Given the description of an element on the screen output the (x, y) to click on. 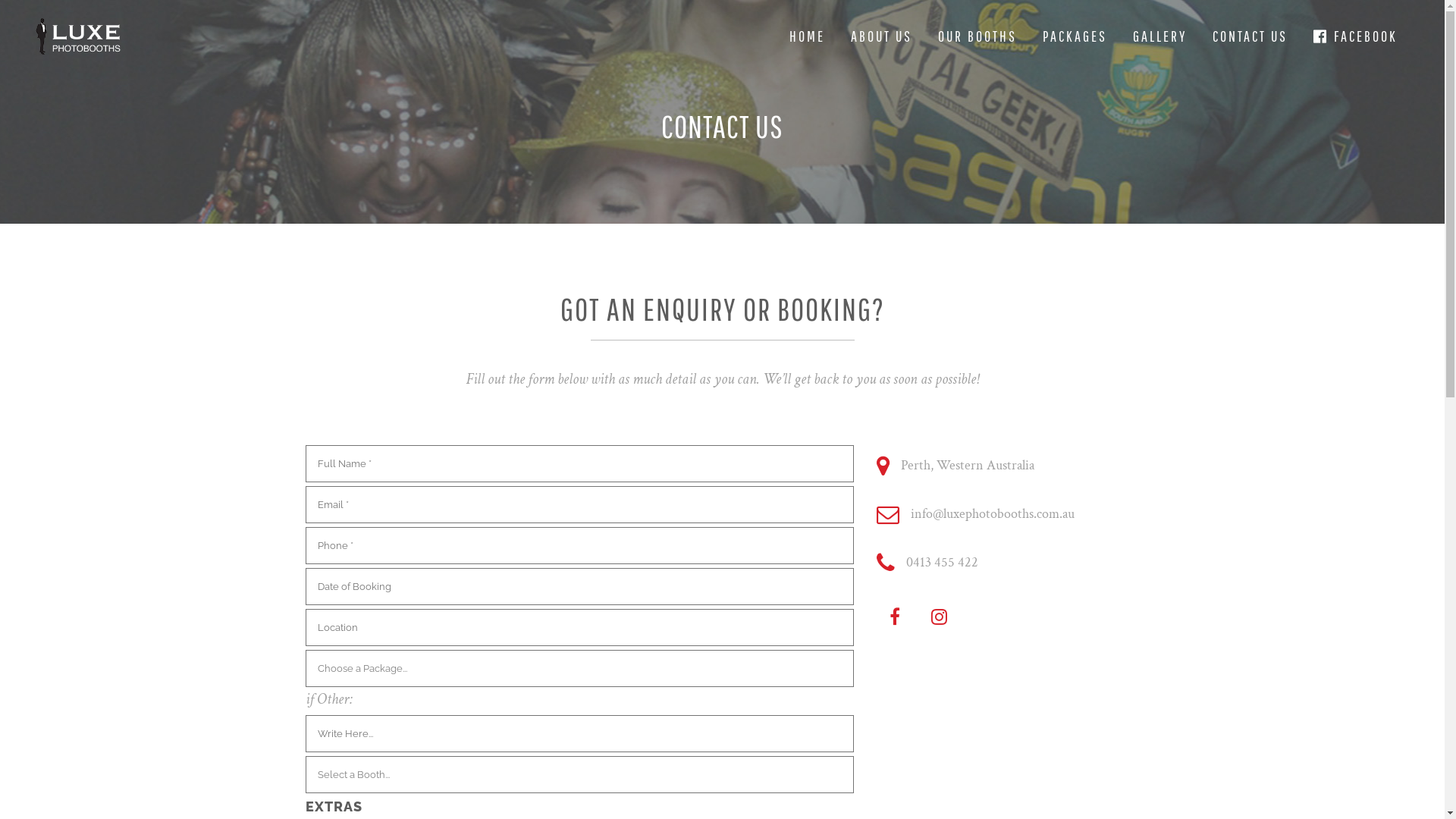
HOME Element type: text (806, 36)
FACEBOOK Element type: text (1355, 36)
ABOUT US Element type: text (881, 36)
CONTACT US Element type: text (1249, 36)
GALLERY Element type: text (1159, 36)
PACKAGES Element type: text (1074, 36)
OUR BOOTHS Element type: text (977, 36)
